Given the description of an element on the screen output the (x, y) to click on. 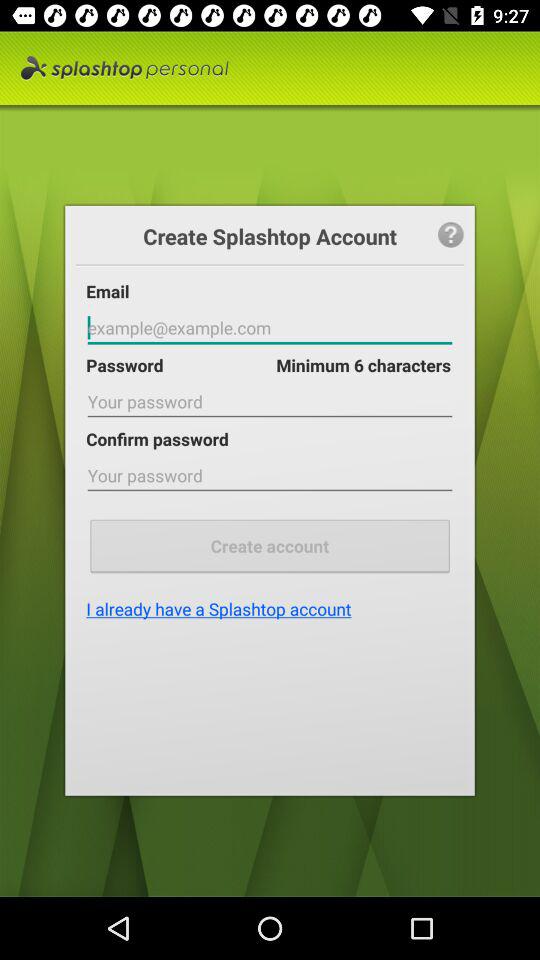
digit your password (269, 401)
